Given the description of an element on the screen output the (x, y) to click on. 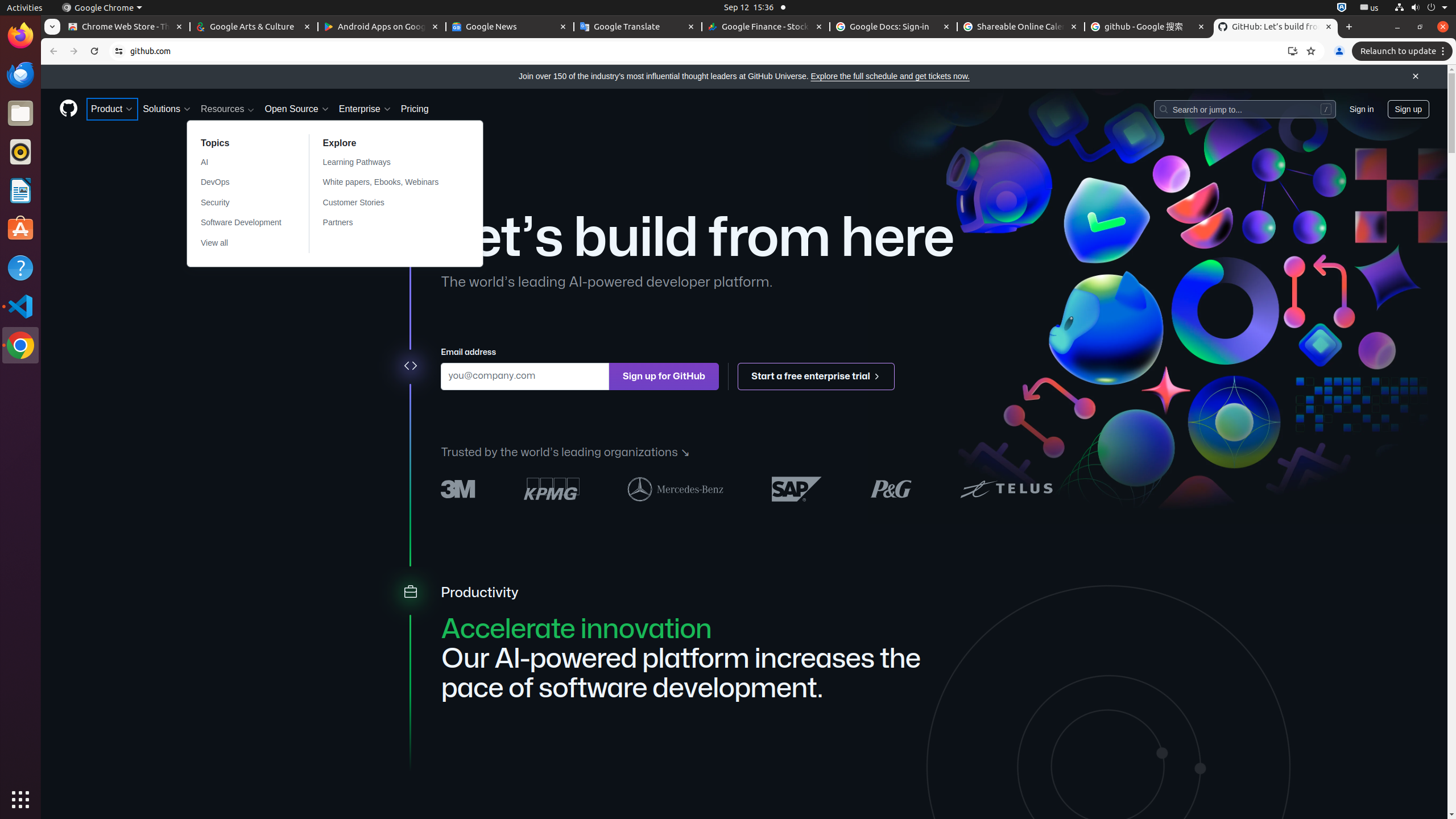
Shareable Online Calendar and Scheduling - Google Calendar - Memory usage - 88.4 MB Element type: page-tab (1020, 26)
Sign in Element type: link (1361, 108)
Start a free enterprise trial  Element type: link (816, 376)
Help Element type: push-button (20, 267)
Google Arts & Culture - Memory usage - 60.0 MB Element type: page-tab (253, 26)
